Given the description of an element on the screen output the (x, y) to click on. 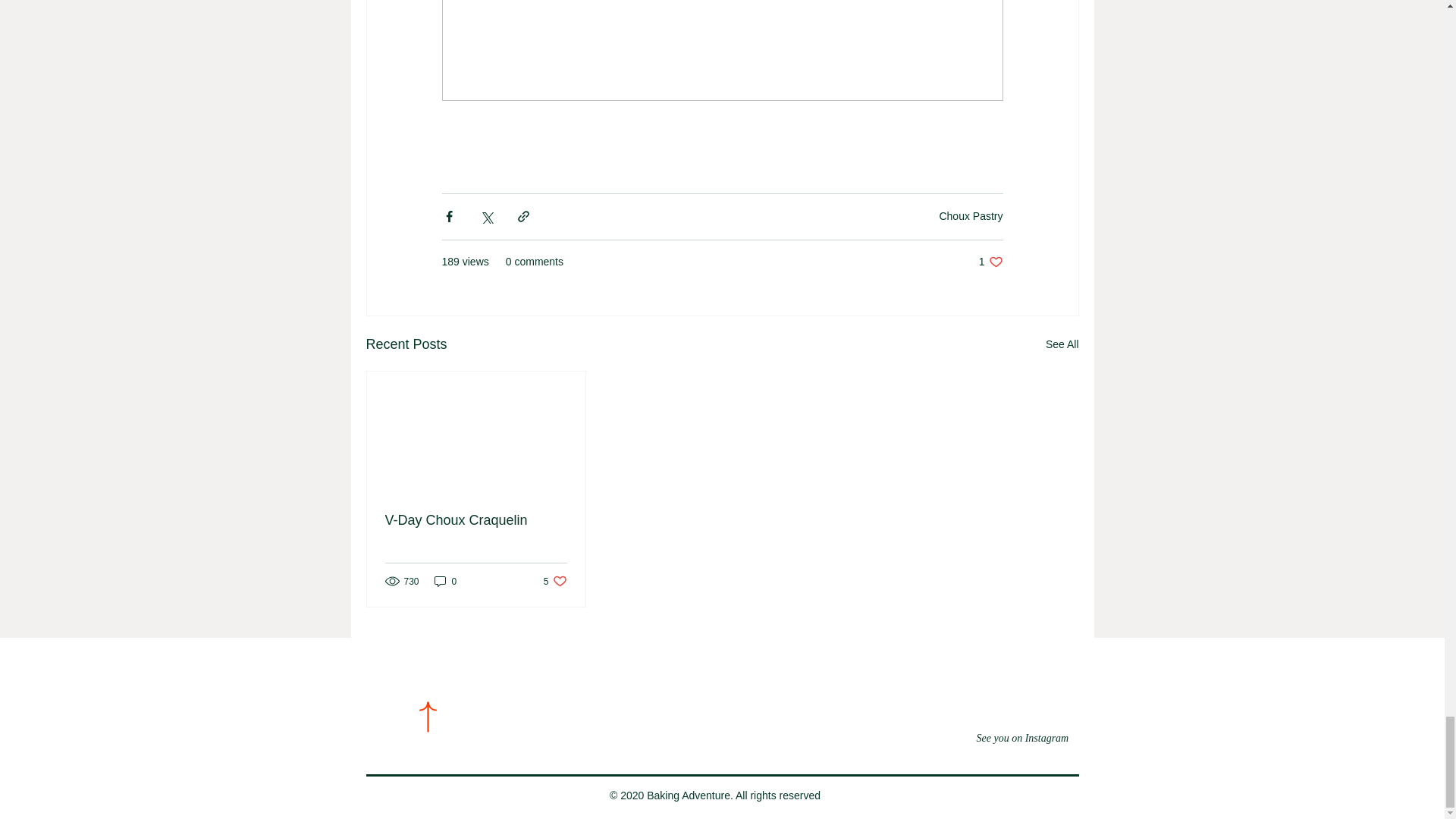
See All (990, 261)
0 (1061, 344)
See you on Instagram (555, 581)
Choux Pastry (445, 581)
V-Day Choux Craquelin (1022, 737)
